Given the description of an element on the screen output the (x, y) to click on. 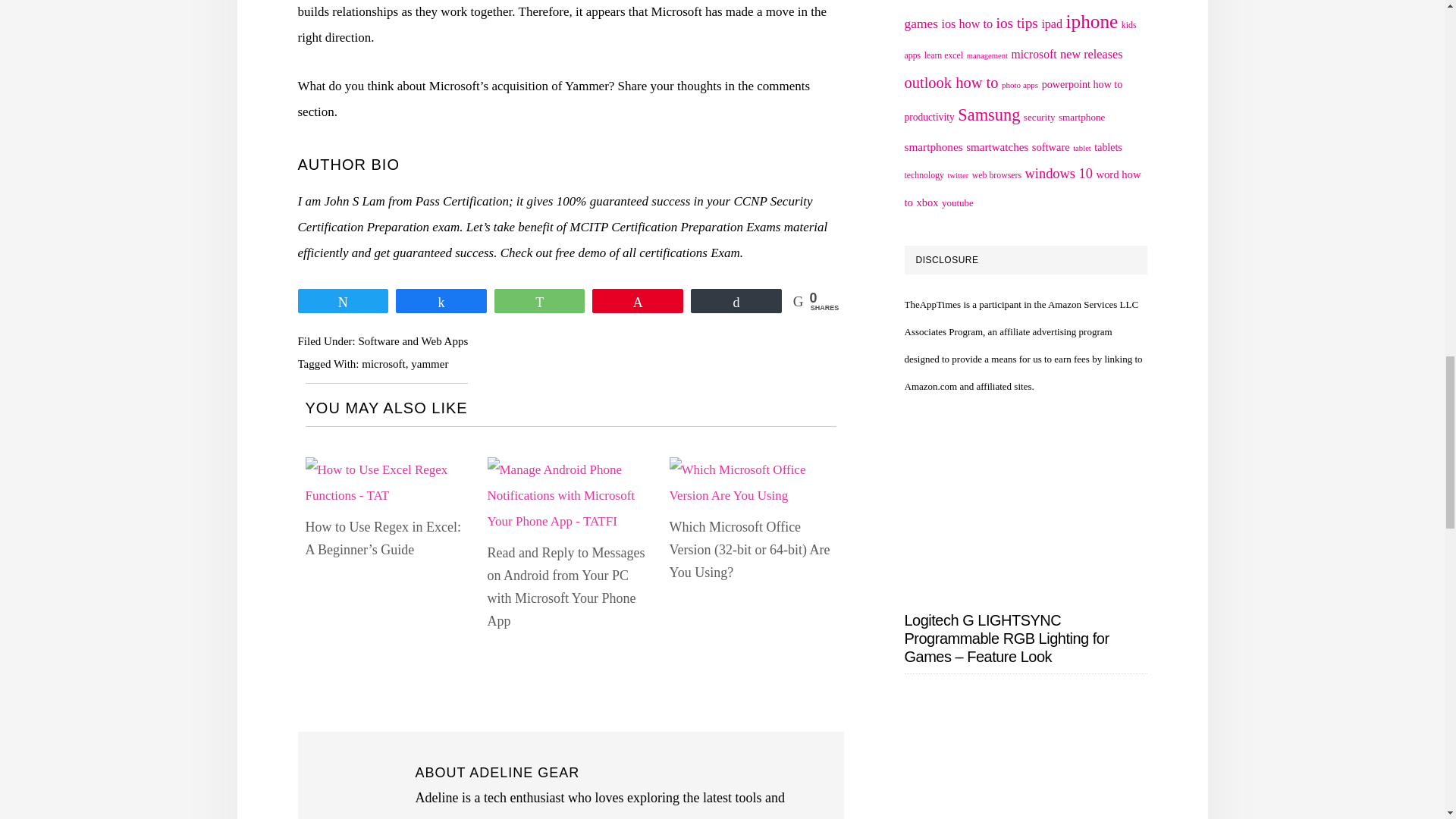
Software and Web Apps (412, 340)
yammer (429, 363)
microsoft (383, 363)
